Given the description of an element on the screen output the (x, y) to click on. 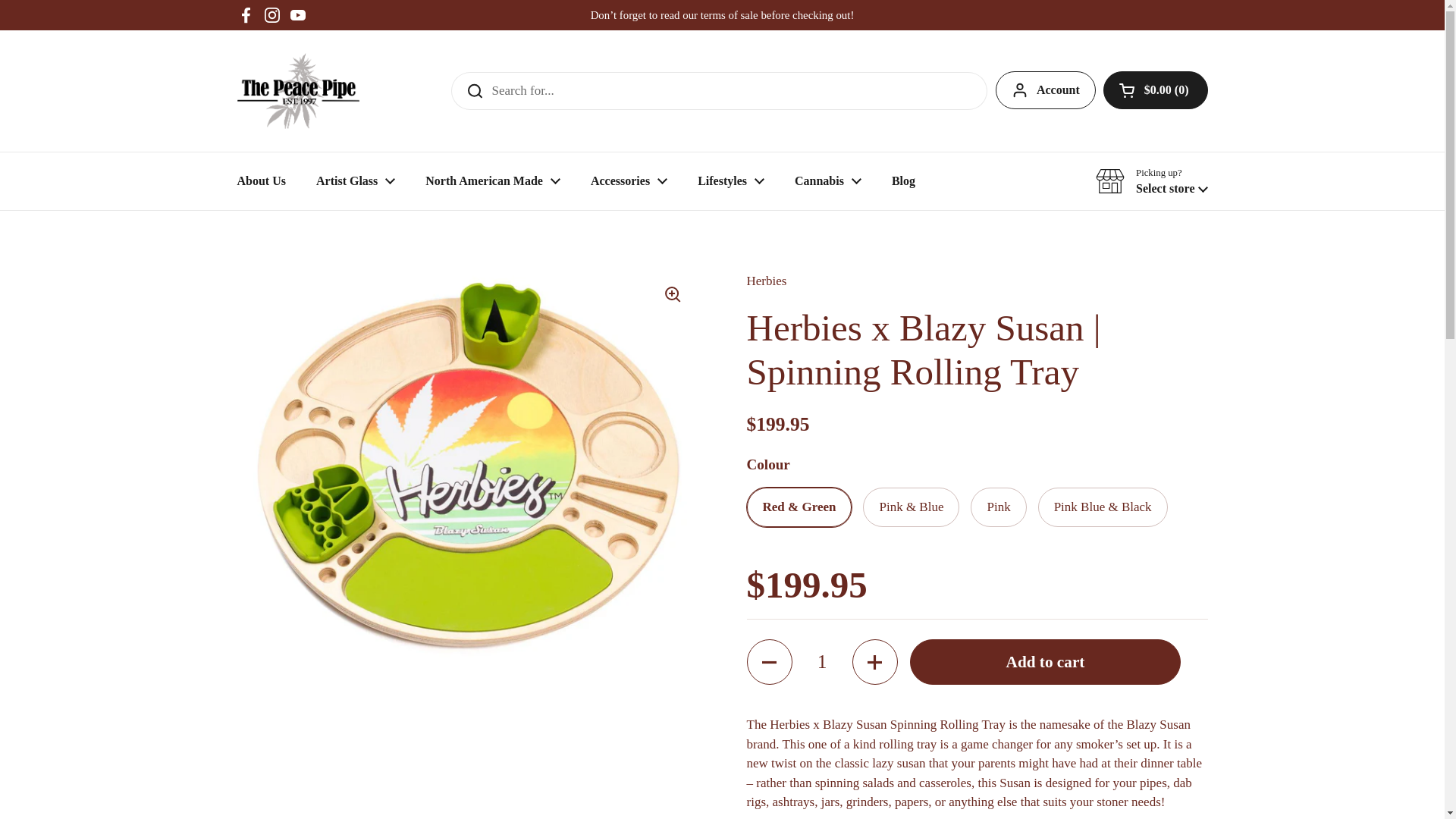
YouTube (296, 14)
Facebook (244, 14)
About Us (260, 181)
Artist Glass (355, 181)
Open cart (1155, 89)
Artist Glass (355, 181)
About Us (260, 181)
1 (821, 661)
Account (1045, 89)
